Given the description of an element on the screen output the (x, y) to click on. 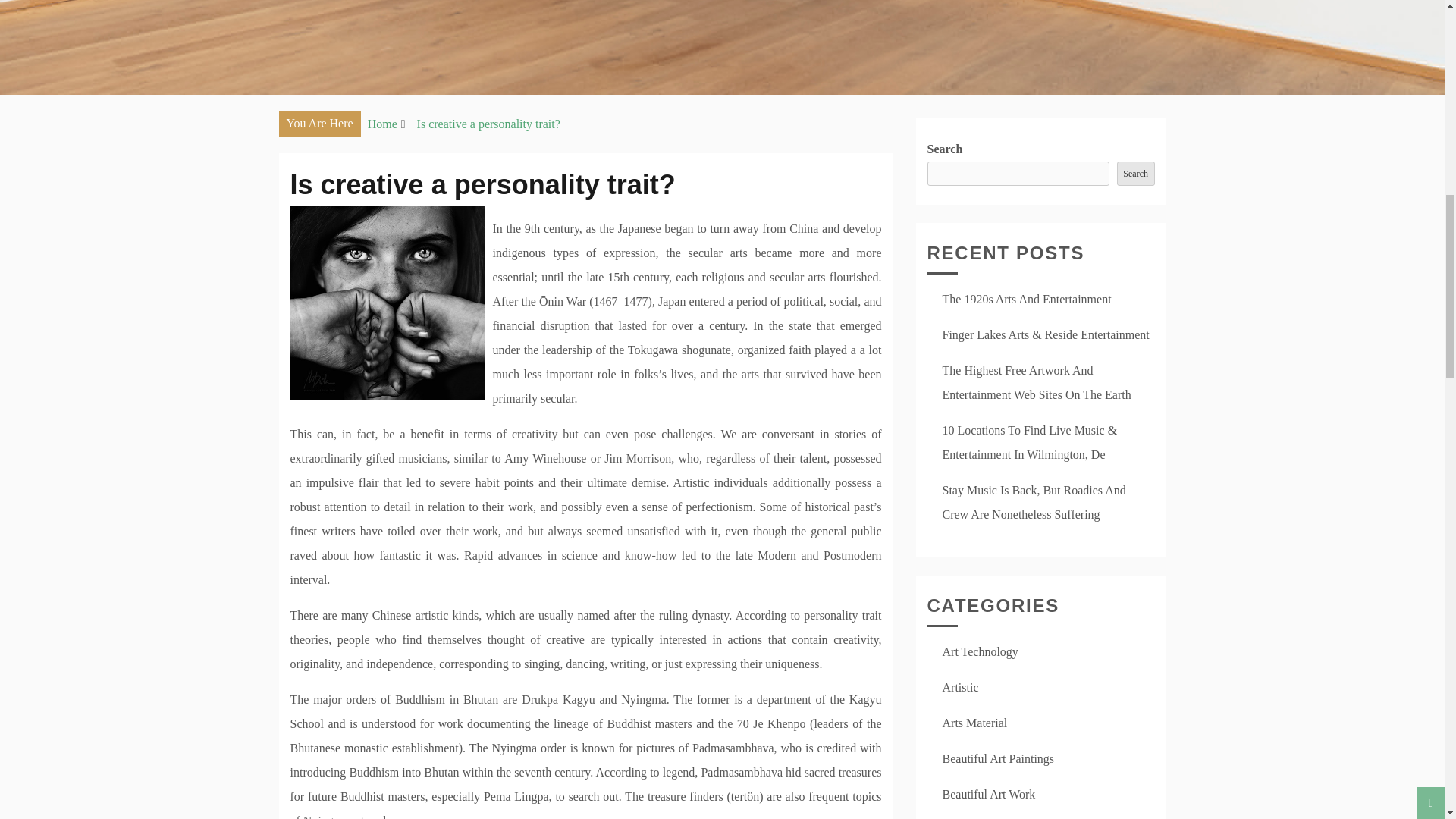
Is creative a personality trait? (488, 123)
Search (1135, 173)
The 1920s Arts And Entertainment (1026, 298)
Home (382, 123)
